Given the description of an element on the screen output the (x, y) to click on. 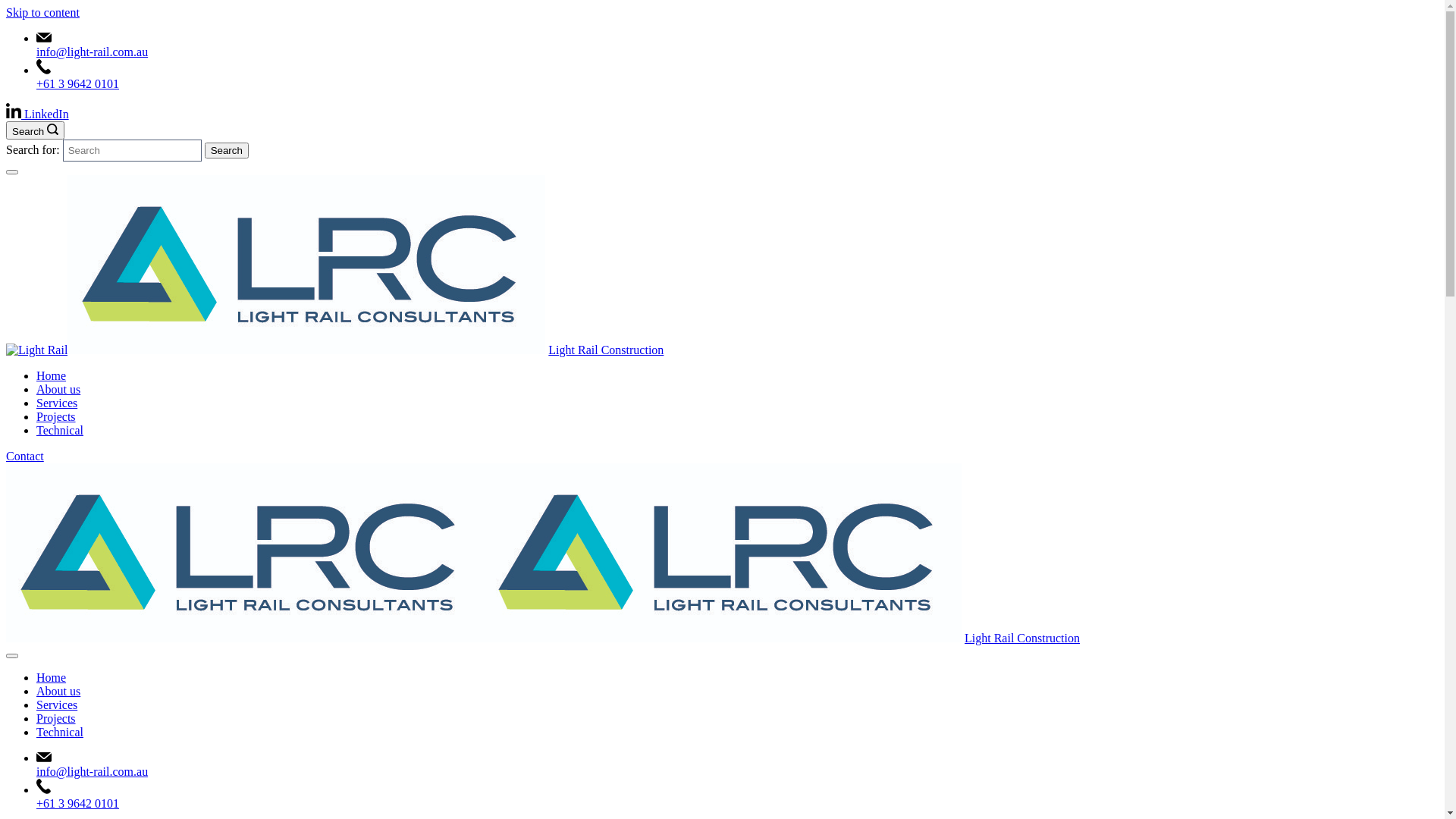
Technical Element type: text (59, 429)
Search Input Element type: hover (131, 150)
+61 3 9642 0101 Element type: text (77, 83)
Services Element type: text (56, 402)
LinkedIn Element type: text (37, 113)
Home Element type: text (50, 677)
About us Element type: text (58, 388)
Projects Element type: text (55, 416)
Technical Element type: text (59, 731)
Contact Element type: text (24, 455)
info@light-rail.com.au Element type: text (91, 771)
About us Element type: text (58, 690)
Light Rail Construction Element type: text (605, 349)
+61 3 9642 0101 Element type: text (77, 803)
Services Element type: text (56, 704)
Home Element type: text (50, 375)
info@light-rail.com.au Element type: text (91, 51)
Projects Element type: text (55, 718)
Light Rail Construction Element type: text (1021, 637)
Search Element type: text (35, 130)
Search Element type: text (226, 150)
Skip to content Element type: text (42, 12)
